Given the description of an element on the screen output the (x, y) to click on. 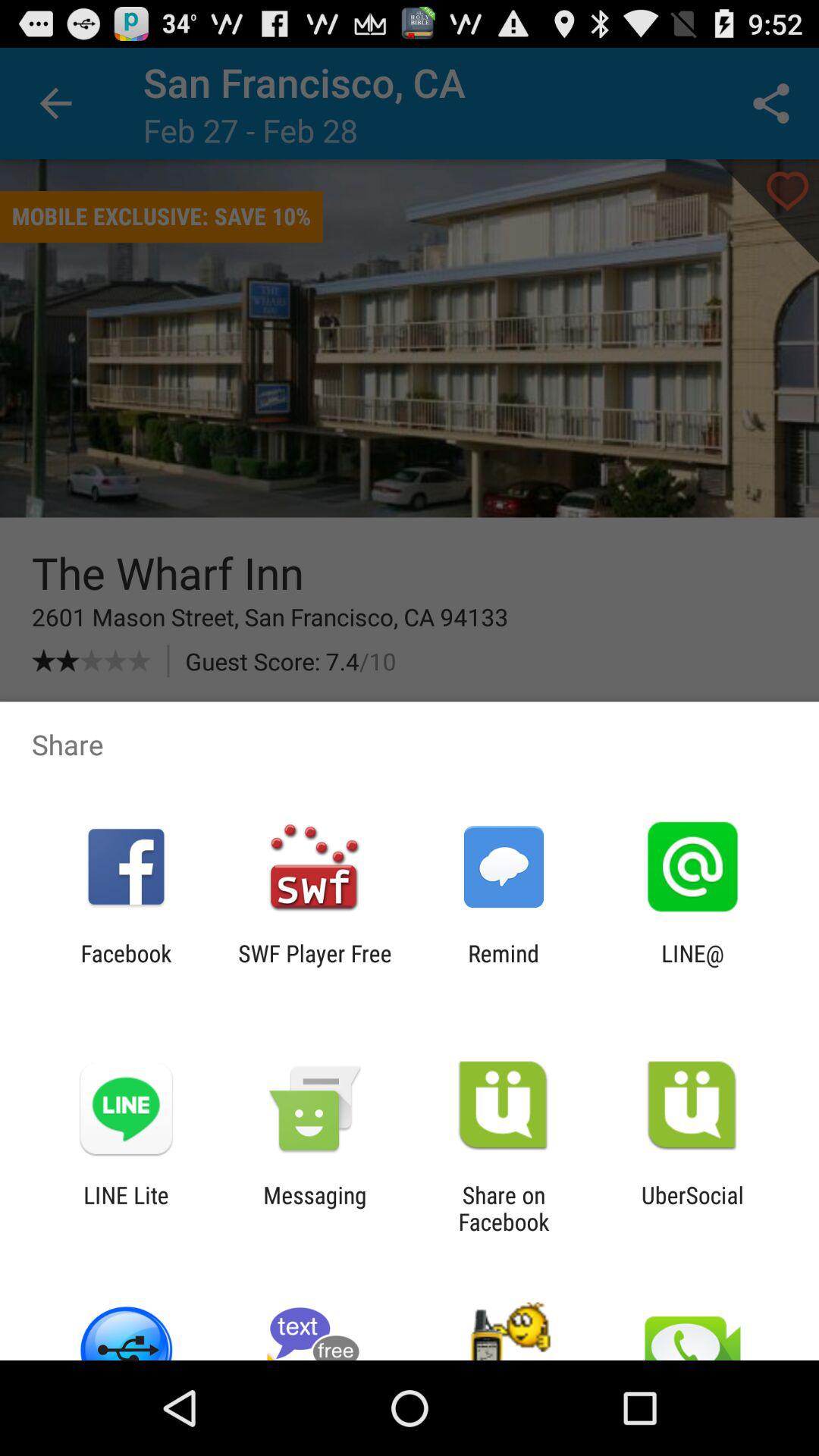
turn off icon next to share on facebook app (314, 1208)
